Given the description of an element on the screen output the (x, y) to click on. 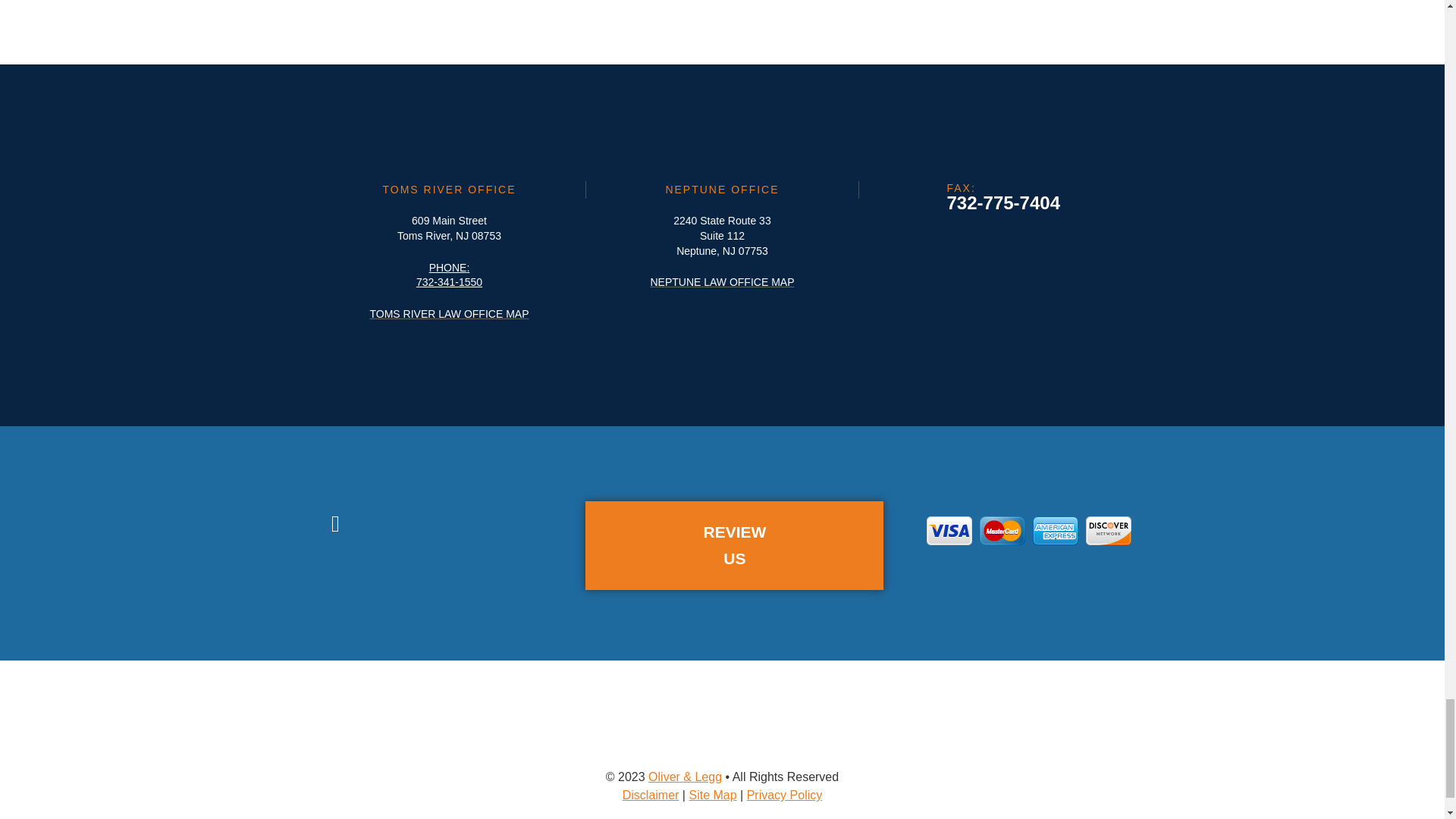
Follow on Facebook (335, 524)
